Given the description of an element on the screen output the (x, y) to click on. 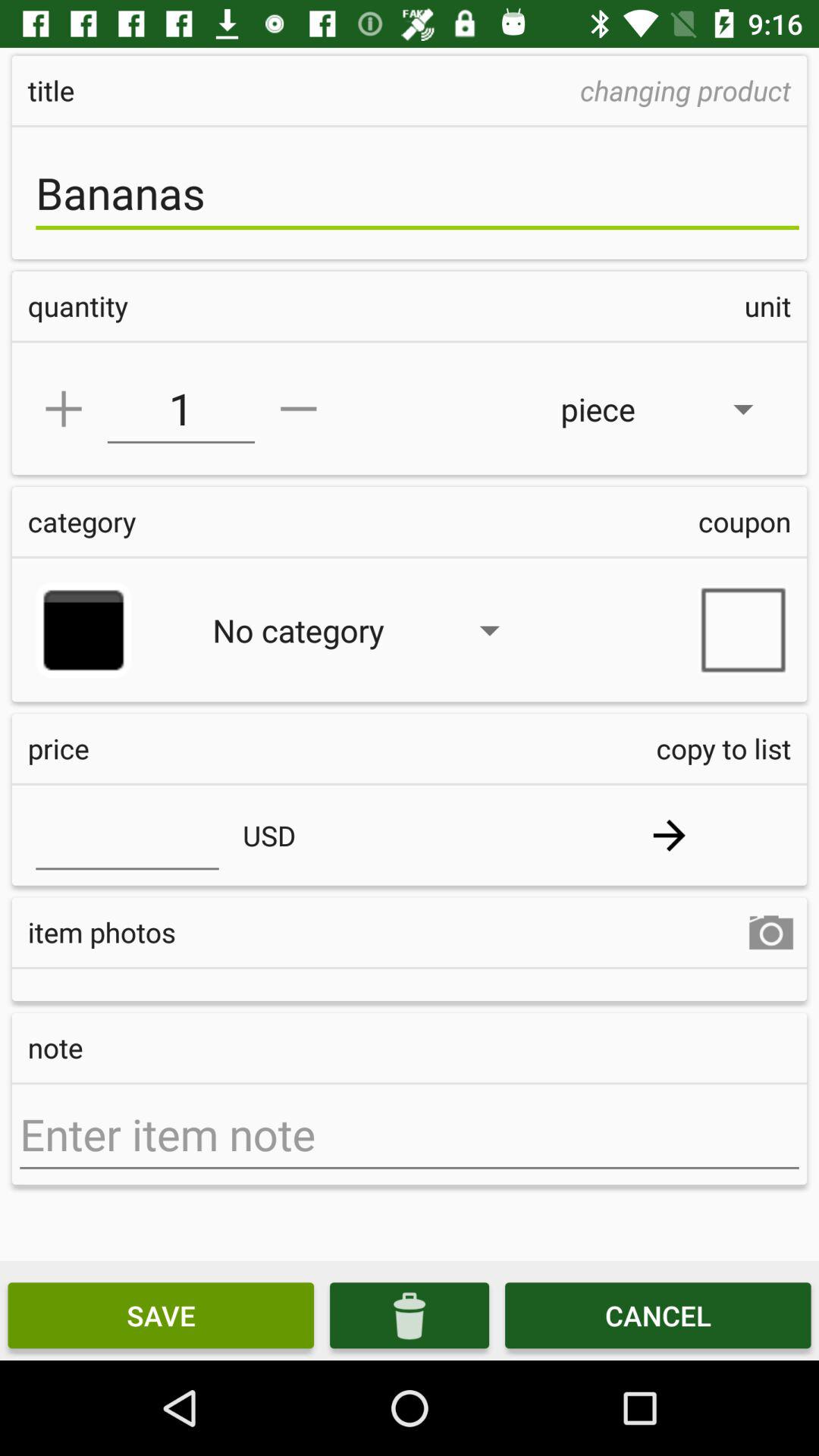
press the item next to the usd item (669, 835)
